Given the description of an element on the screen output the (x, y) to click on. 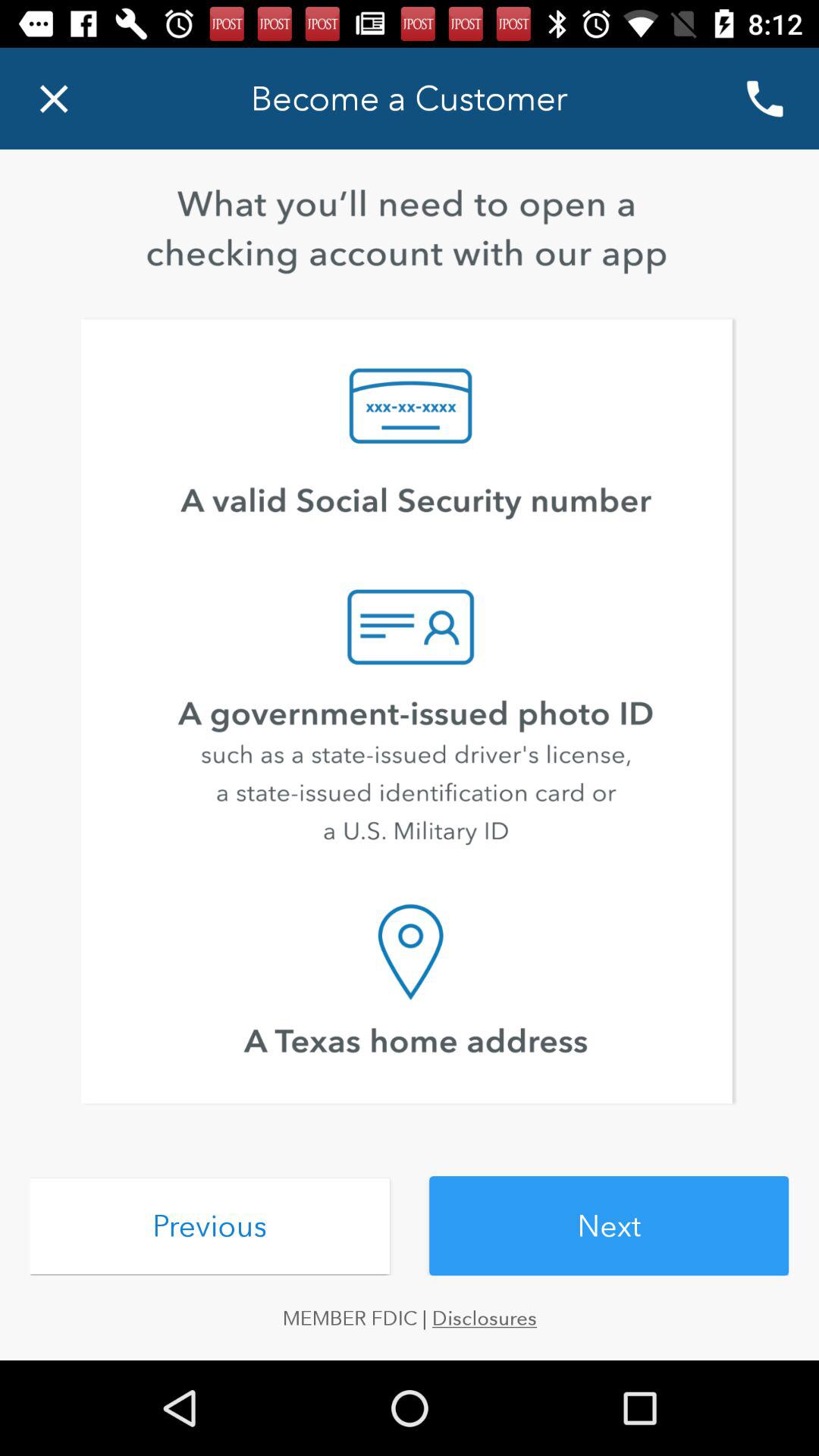
choose the icon next to next item (209, 1226)
